Given the description of an element on the screen output the (x, y) to click on. 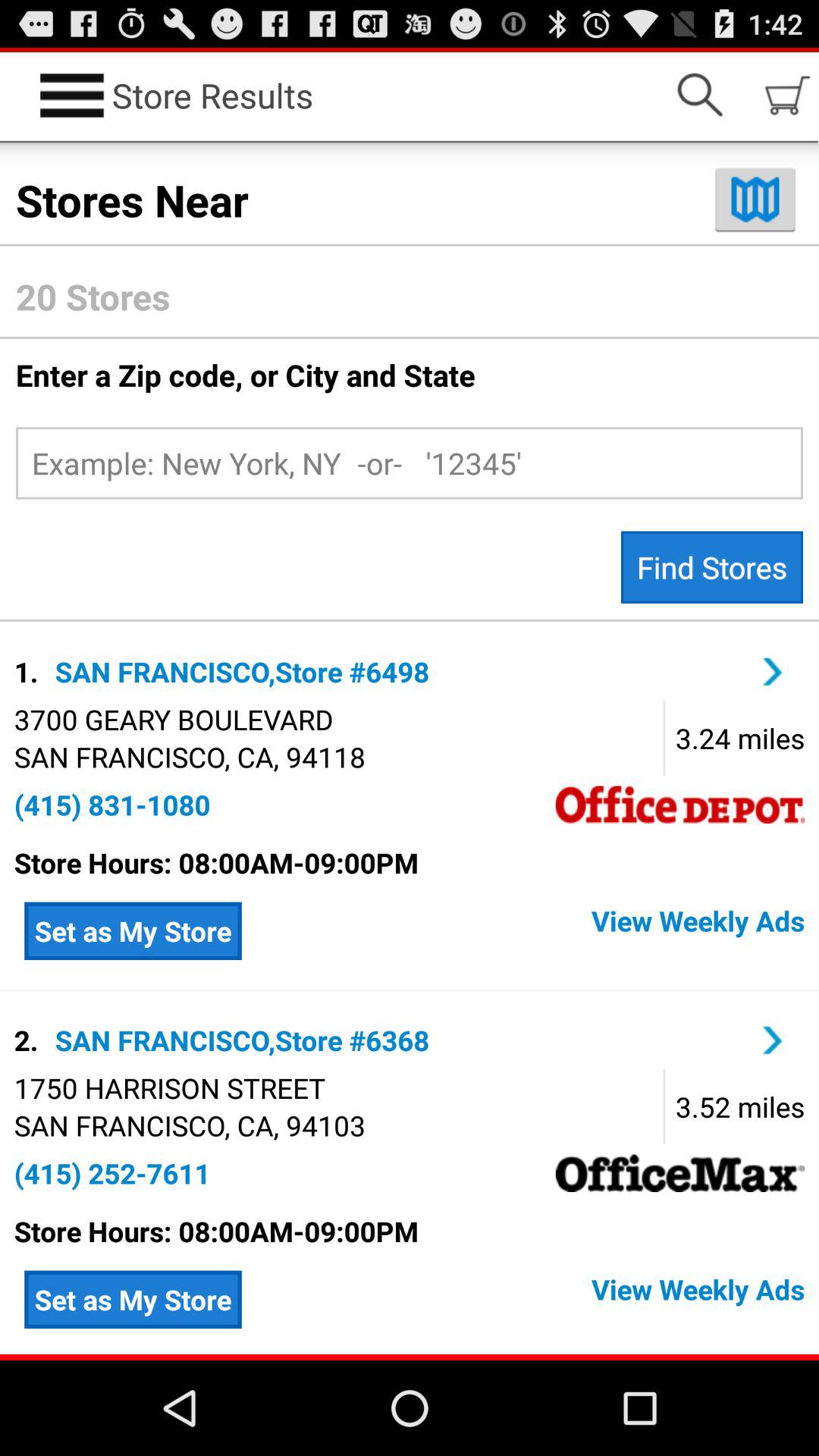
turn off app below san francisco ca (112, 804)
